Given the description of an element on the screen output the (x, y) to click on. 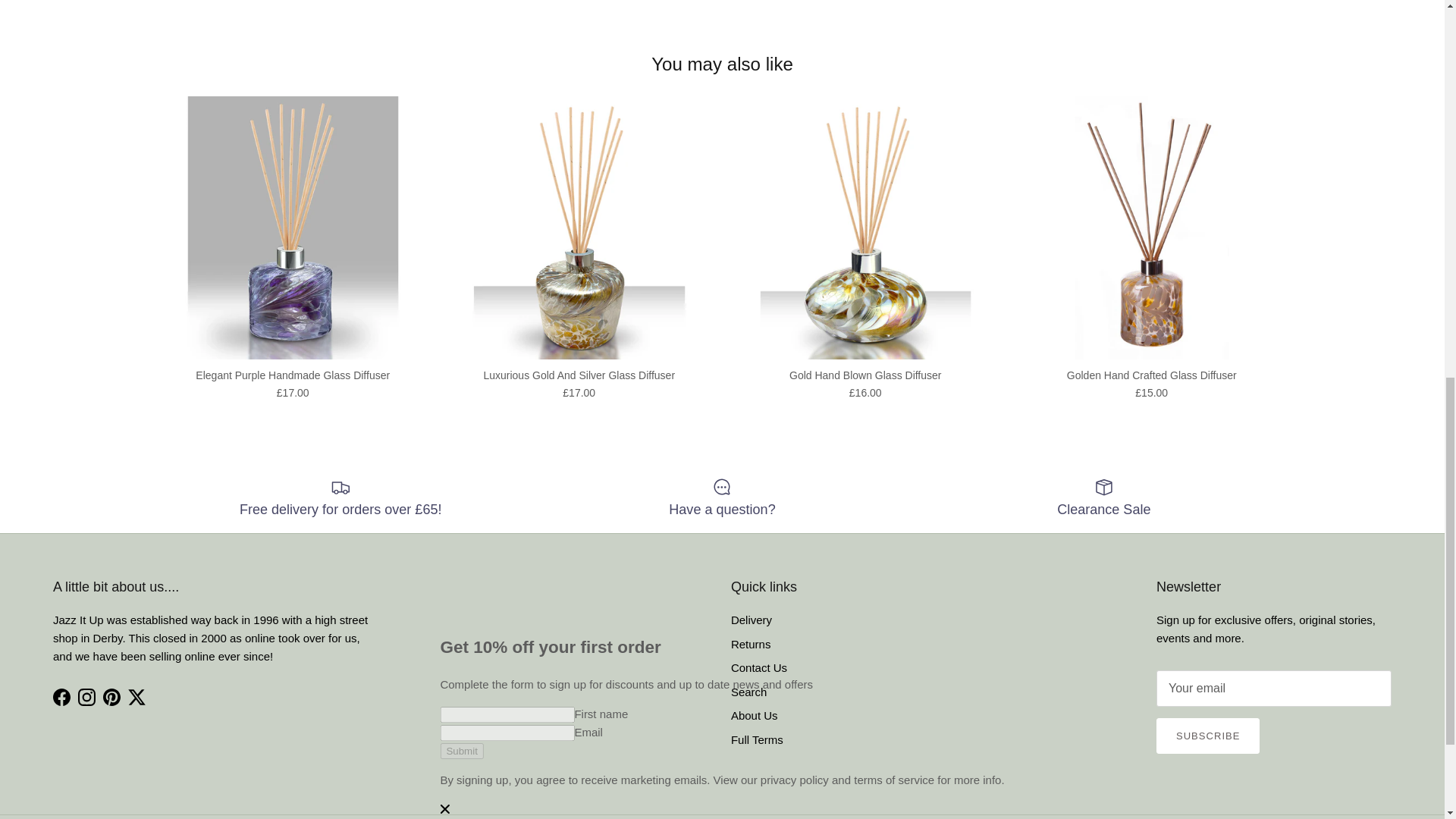
Jazz It Up Interiors on Facebook (60, 696)
Jazz It Up Interiors on Twitter (136, 696)
Jazz It Up Interiors on Pinterest (111, 696)
Jazz It Up Interiors on Instagram (87, 696)
